Given the description of an element on the screen output the (x, y) to click on. 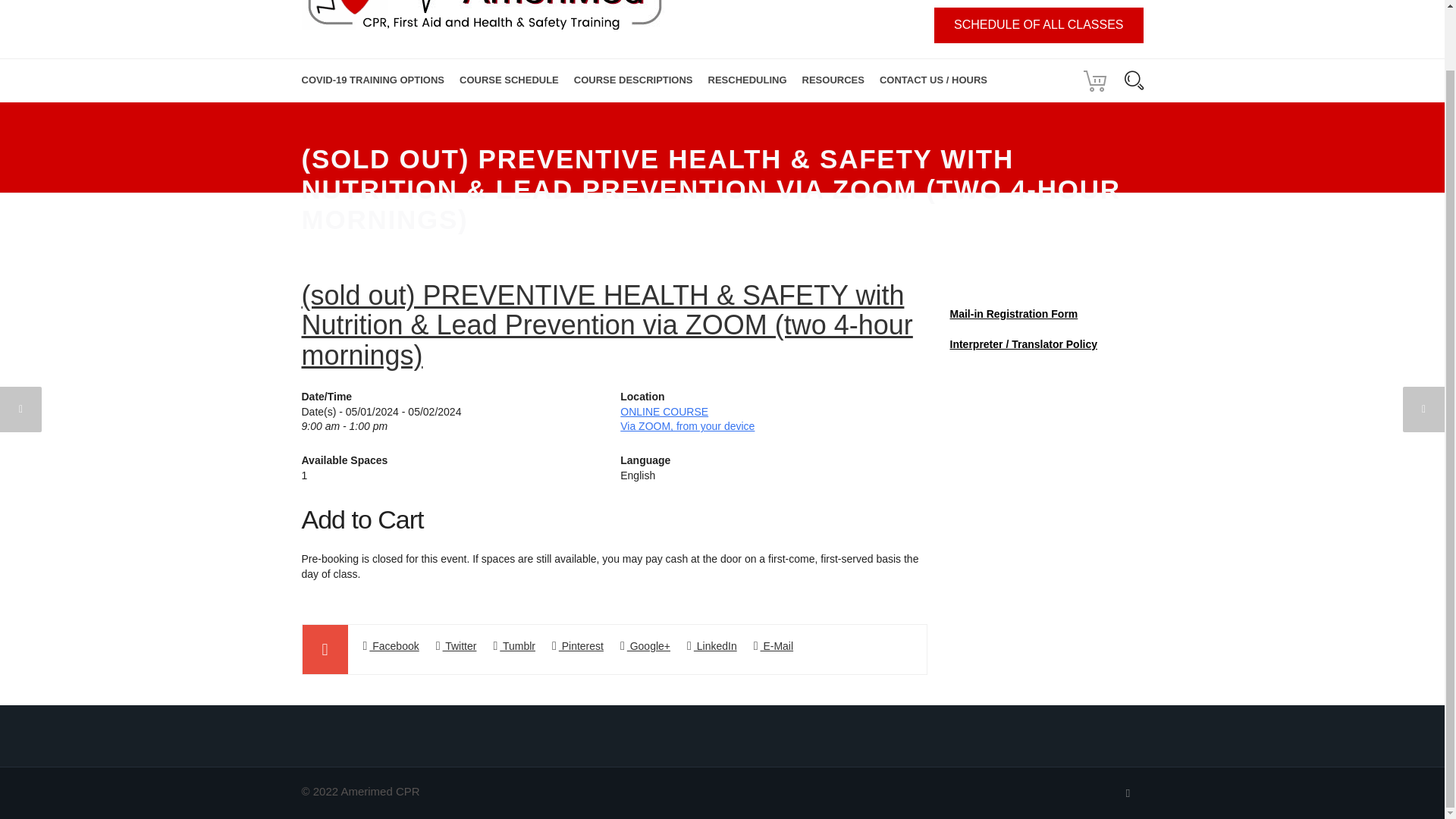
RESOURCES (833, 80)
Resources (833, 80)
Facebook (390, 646)
E-Mail (773, 646)
ONLINE COURSE (663, 411)
Rescheduling (747, 80)
Pinterest (577, 646)
COVID-19 Training Options (376, 80)
Via ZOOM, from your device (687, 426)
Course Schedule (508, 80)
